Given the description of an element on the screen output the (x, y) to click on. 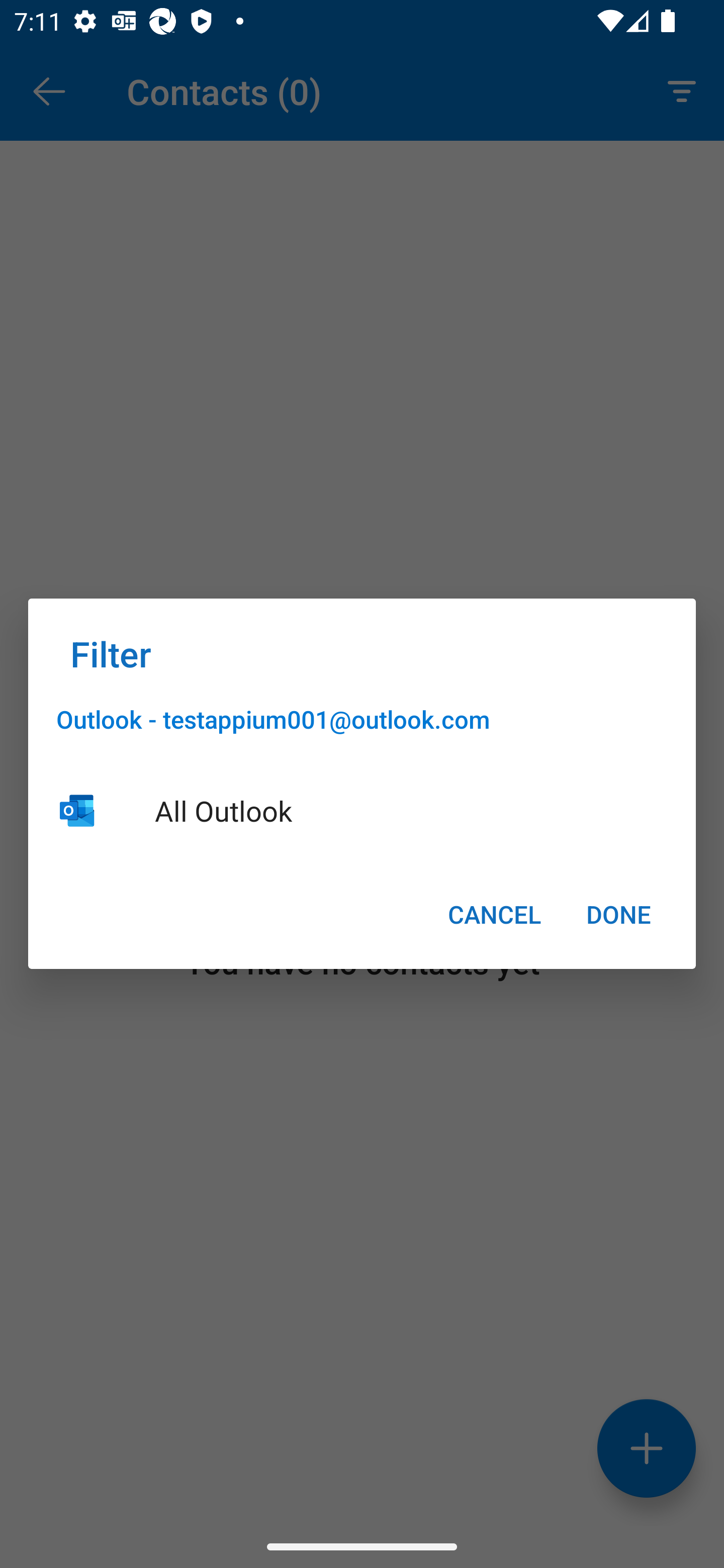
All Outlook, Unselected All Outlook (361, 810)
CANCEL (494, 914)
DONE (617, 914)
